Given the description of an element on the screen output the (x, y) to click on. 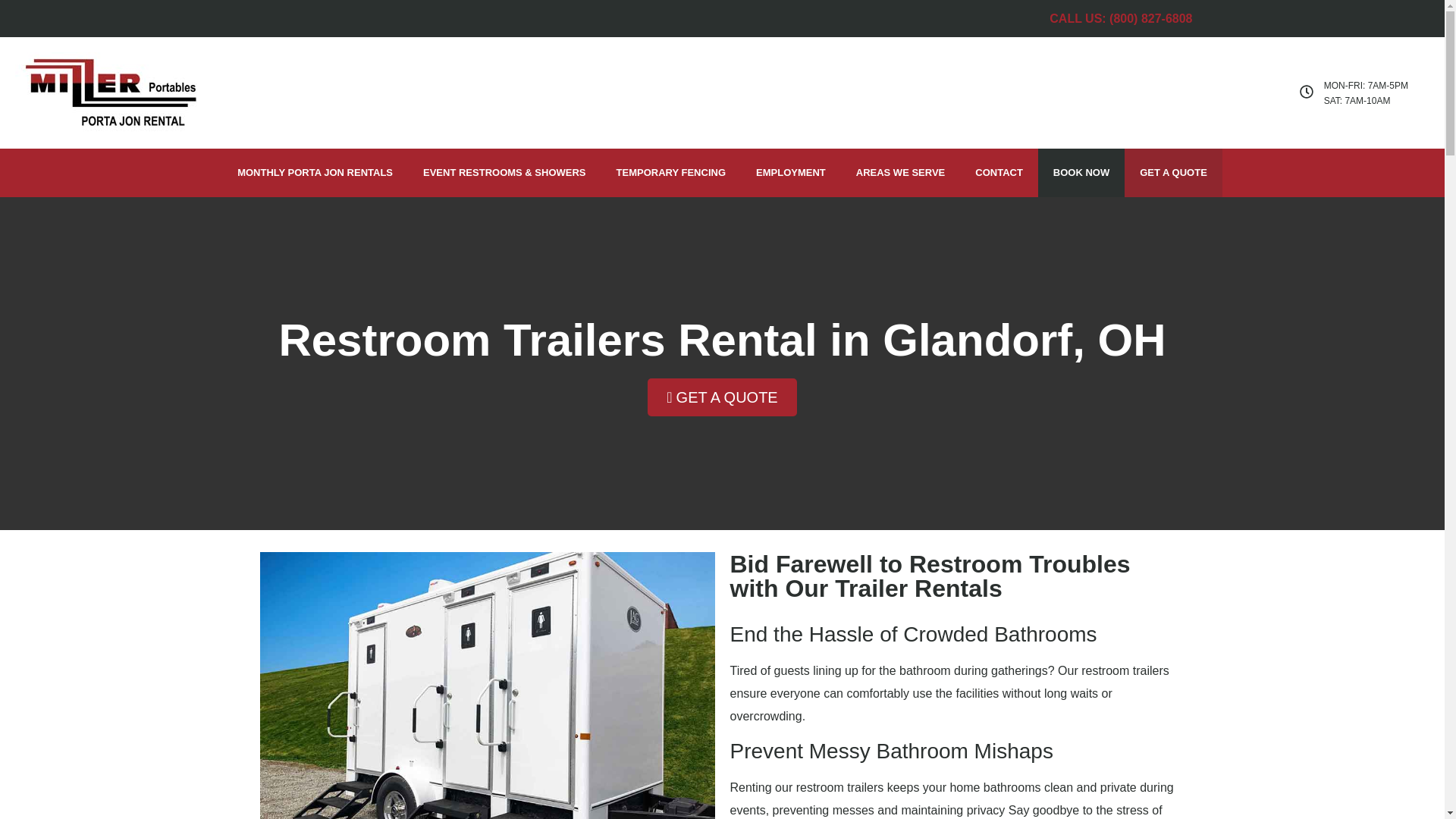
GET A QUOTE (721, 397)
TEMPORARY FENCING (671, 172)
EMPLOYMENT (791, 172)
CONTACT (998, 172)
BOOK NOW (1081, 172)
Call Us (1120, 18)
GET A QUOTE (1173, 172)
MONTHLY PORTA JON RENTALS (314, 172)
AREAS WE SERVE (900, 172)
